Given the description of an element on the screen output the (x, y) to click on. 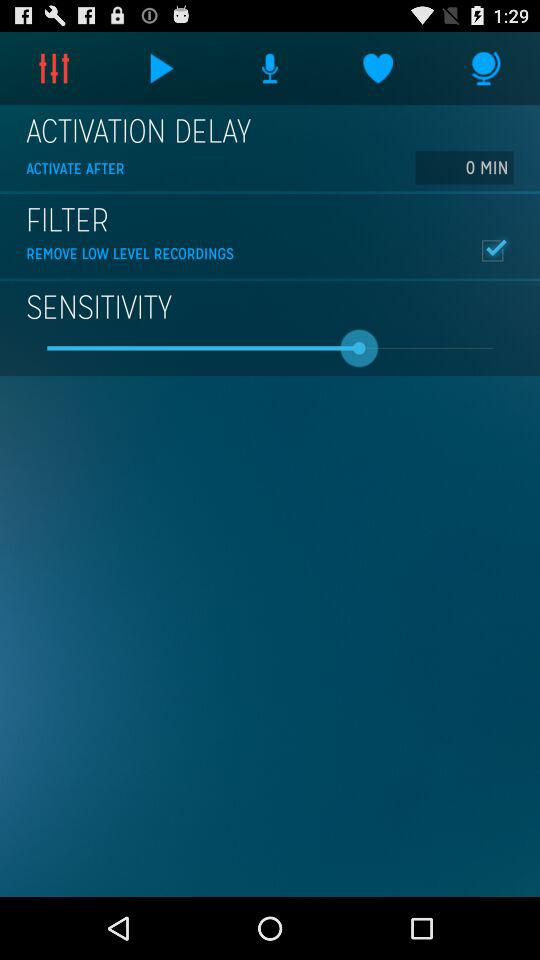
launch item below the 0 min icon (492, 250)
